Given the description of an element on the screen output the (x, y) to click on. 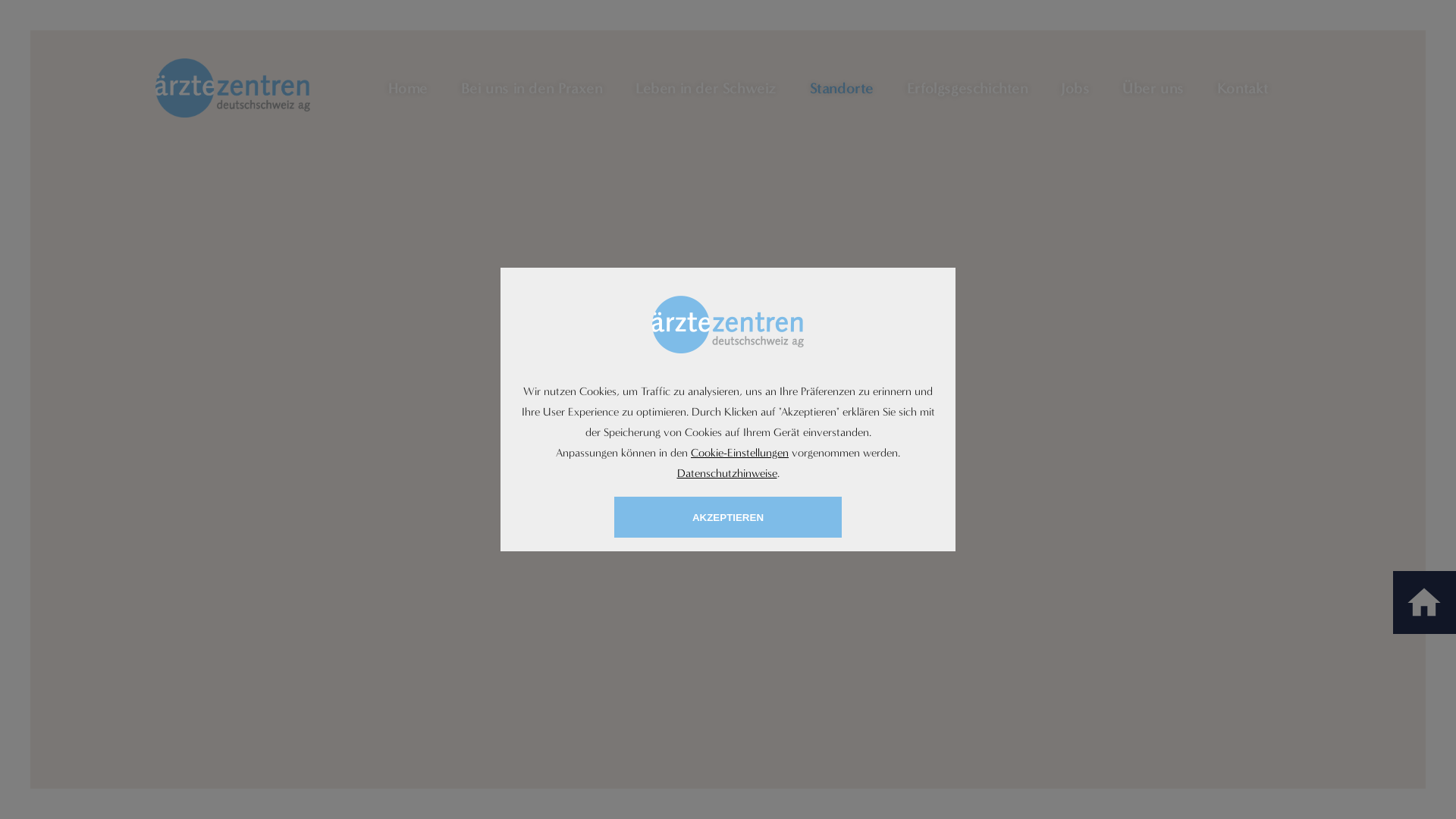
Bei uns in den Praxen Element type: text (531, 87)
Leben in der Schweiz Element type: text (705, 87)
Jobs Element type: text (1074, 87)
Kontakt Element type: text (1242, 87)
Home Element type: text (407, 87)
Erfolgsgeschichten Element type: text (967, 87)
Standorte Element type: text (841, 87)
